Given the description of an element on the screen output the (x, y) to click on. 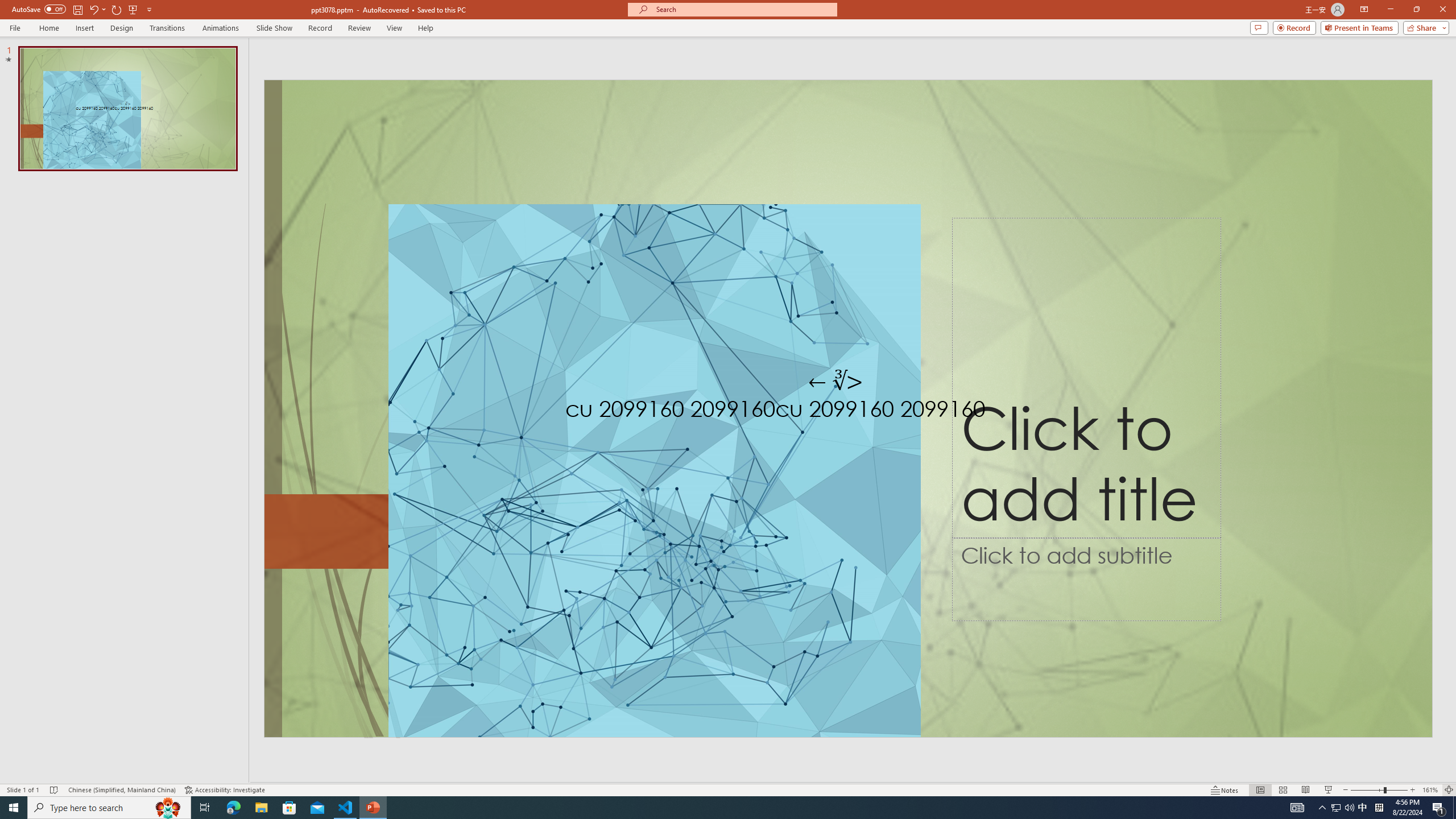
Zoom 161% (1430, 790)
